Given the description of an element on the screen output the (x, y) to click on. 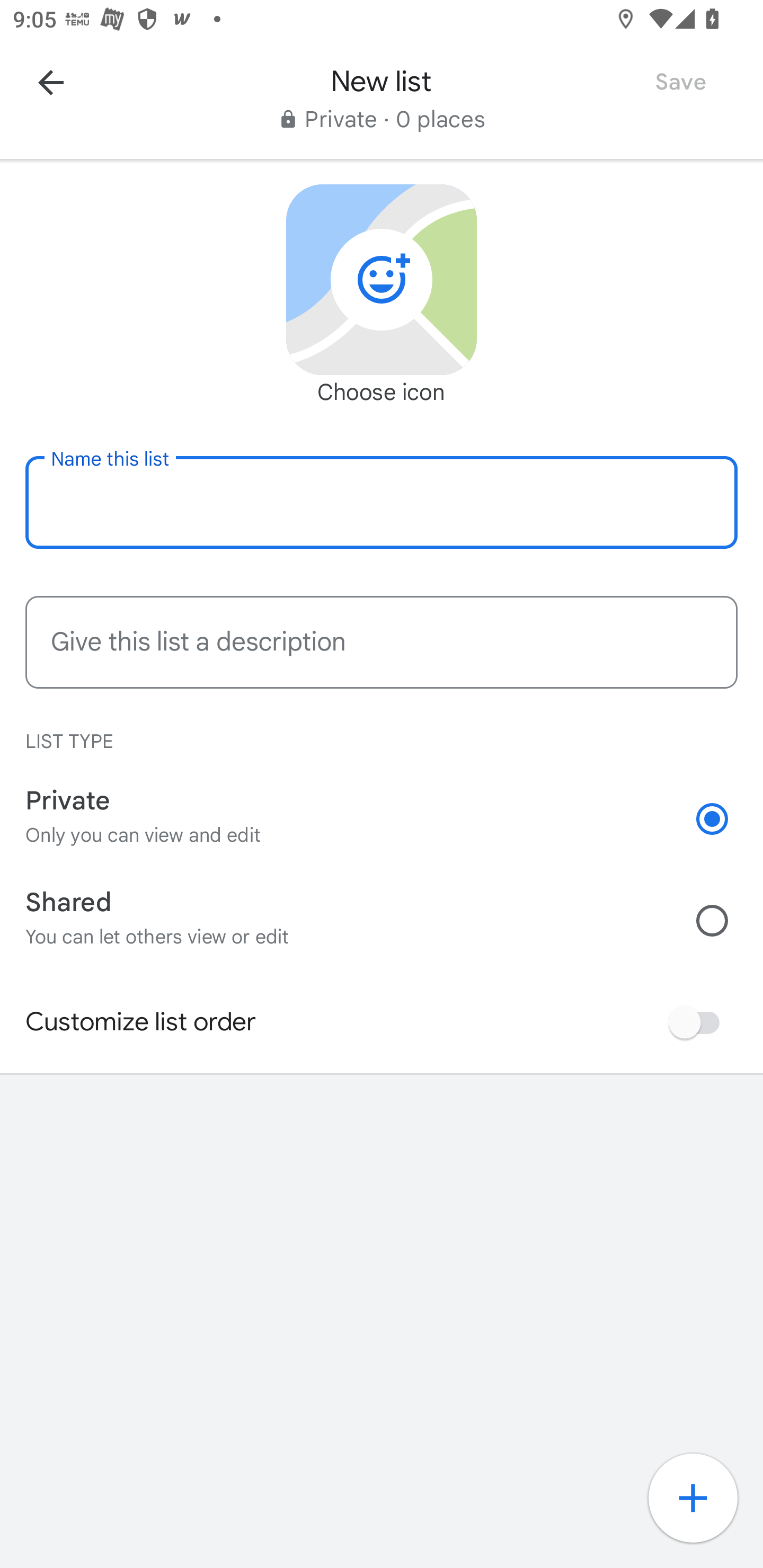
Navigate up (50, 81)
Save (680, 81)
Choose icon (381, 279)
Name this list (381, 502)
Give this list a description (381, 641)
Private (724, 818)
Shared (724, 920)
Customize list order (699, 1021)
Add place to list (702, 1507)
